Given the description of an element on the screen output the (x, y) to click on. 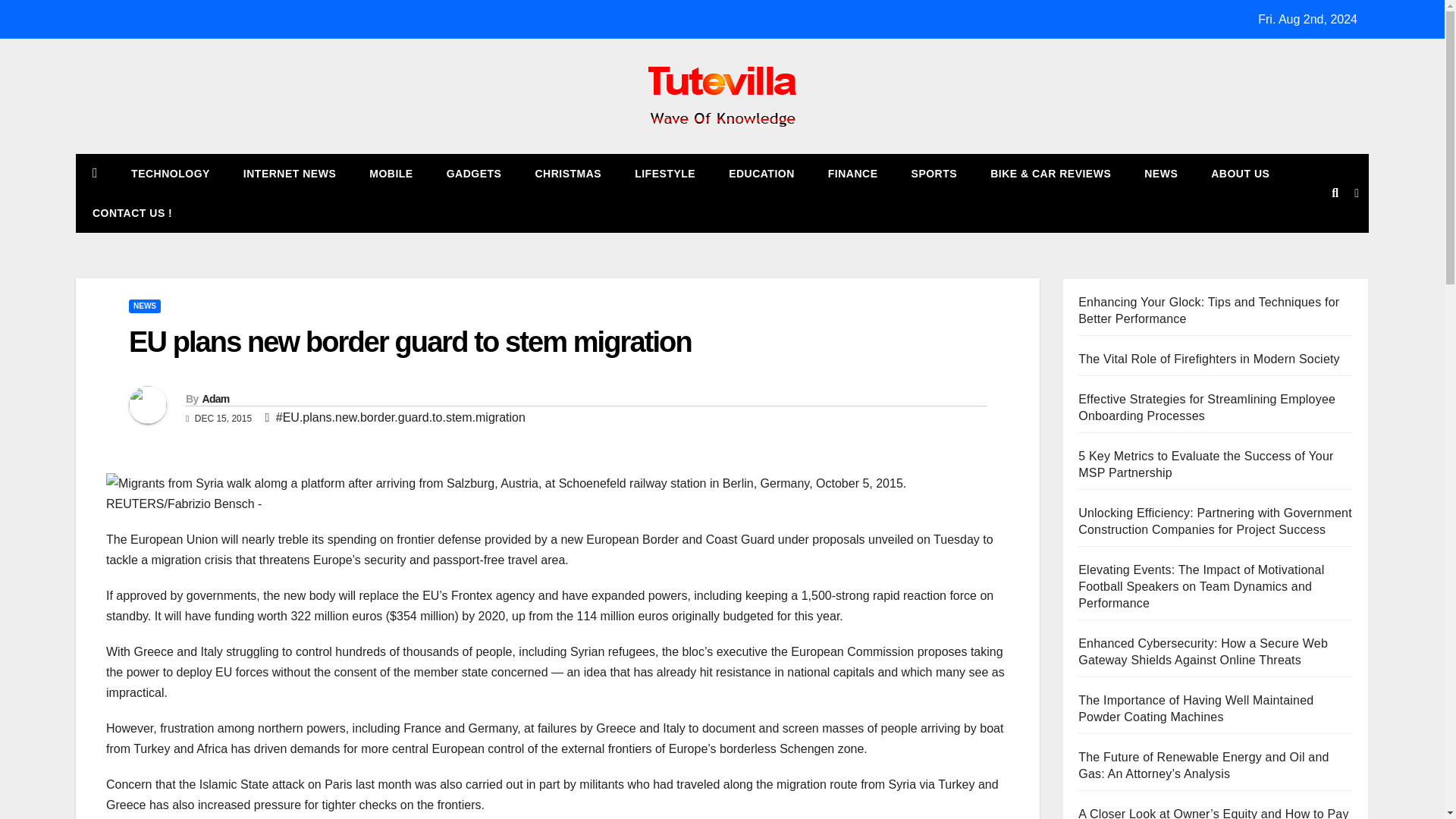
CONTACT US ! (132, 212)
Lifestyle (664, 173)
NEWS (144, 305)
News (1159, 173)
Sports (934, 173)
Adam (215, 398)
Permalink to: EU plans new border guard to stem migration (410, 341)
About Us (1239, 173)
Gadgets (473, 173)
INTERNET NEWS (289, 173)
EDUCATION (760, 173)
EU plans new border guard to stem migration (410, 341)
Education (760, 173)
Technology (171, 173)
NEWS (1159, 173)
